Given the description of an element on the screen output the (x, y) to click on. 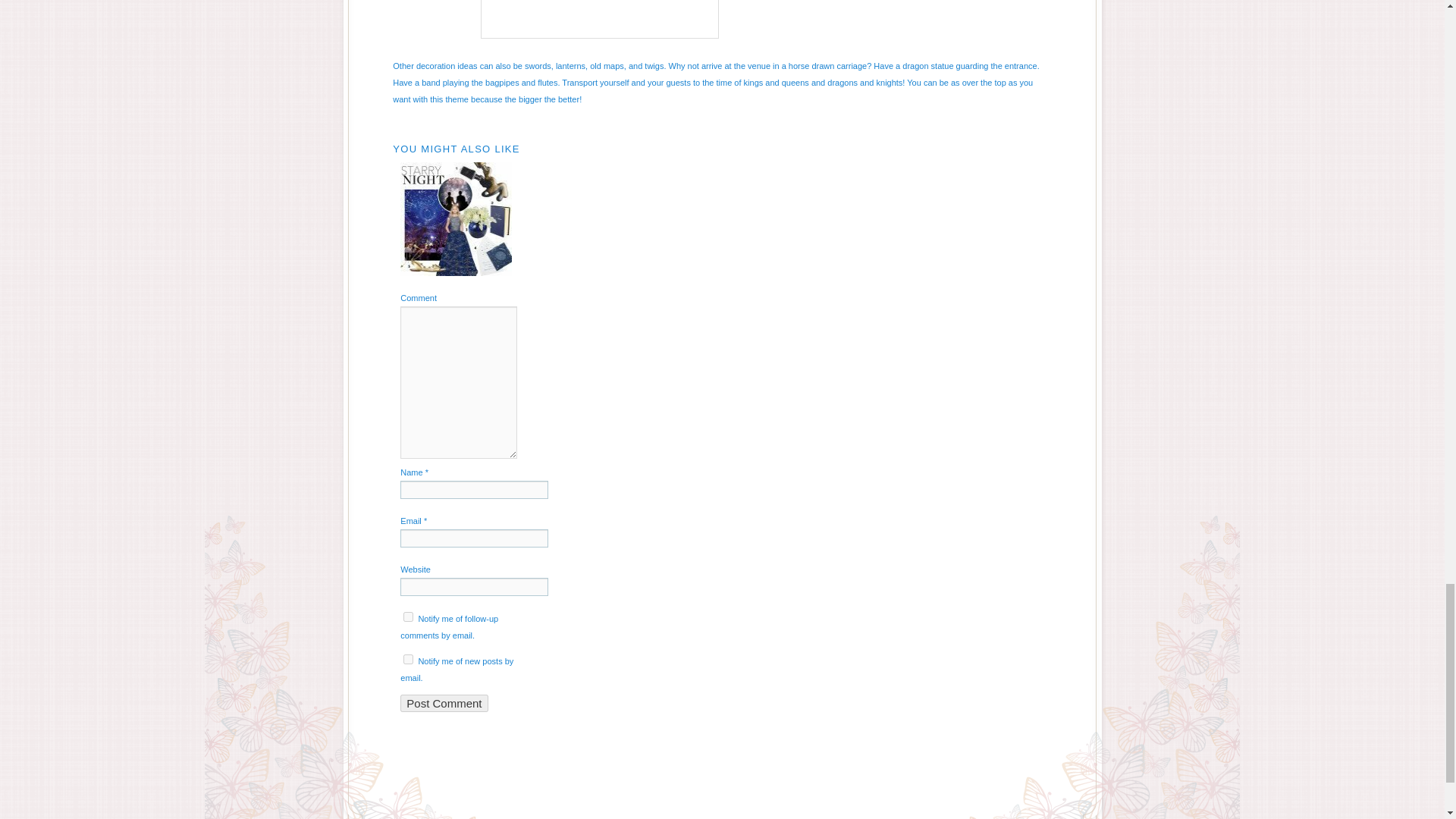
subscribe (408, 659)
Post Comment (443, 702)
subscribe (408, 616)
